Given the description of an element on the screen output the (x, y) to click on. 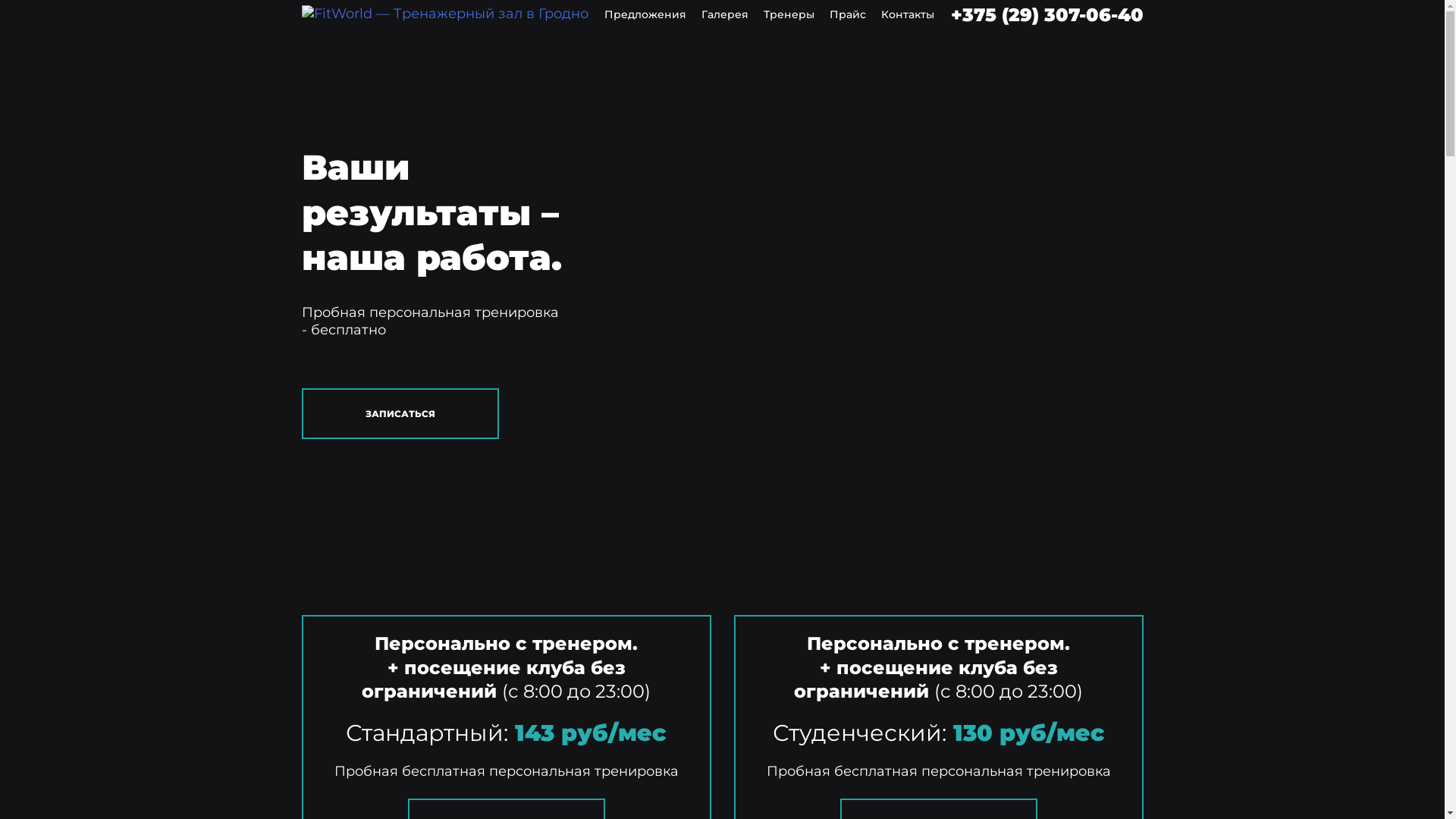
+375 (29) 307-06-40 Element type: text (1046, 14)
